Given the description of an element on the screen output the (x, y) to click on. 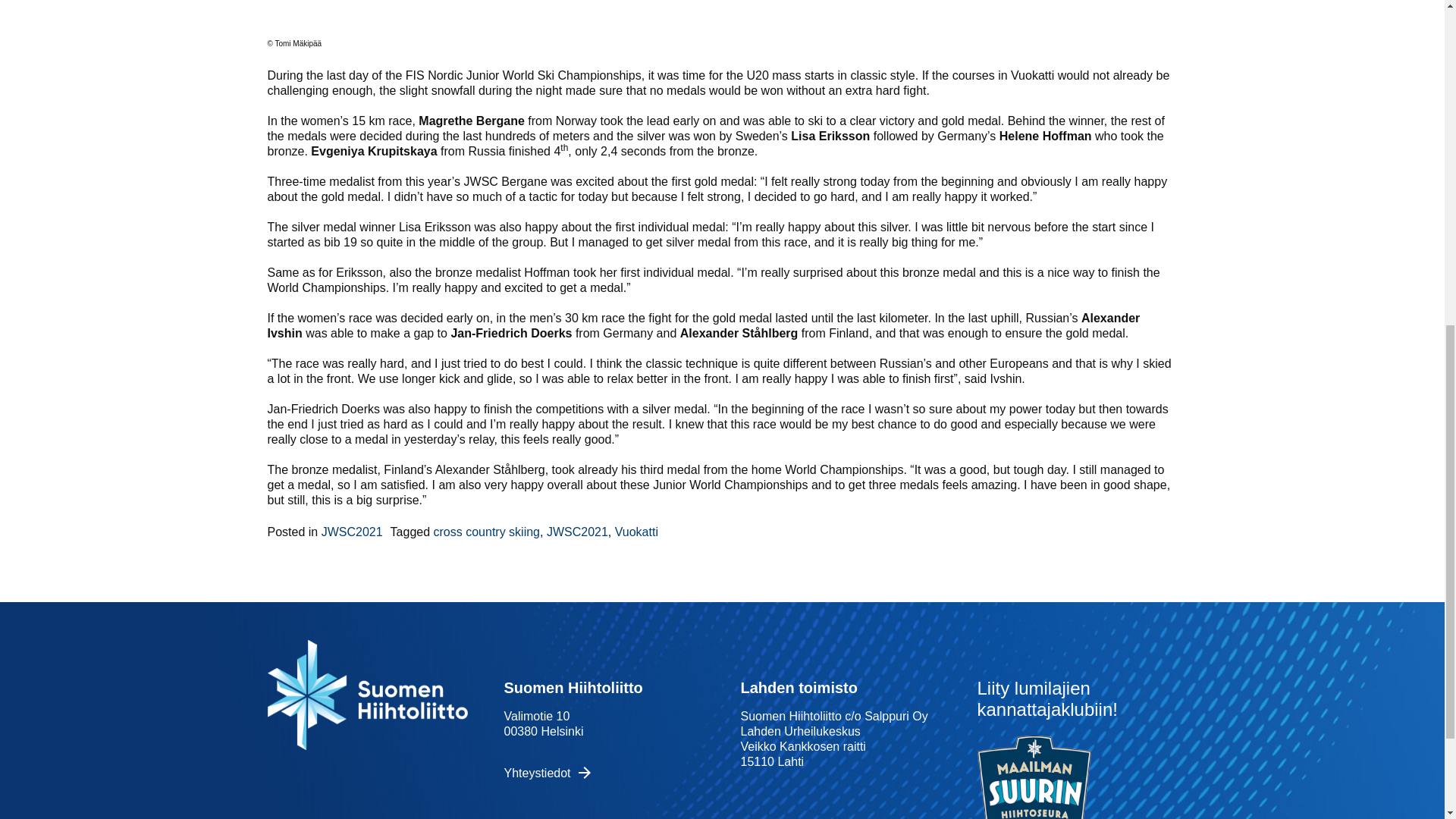
JWSC2021 (351, 531)
cross country skiing (486, 531)
JWSC2021 (577, 531)
Liity lumilajien kannattajaklubiin! (1046, 698)
Vuokatti (636, 531)
Yhteystiedot (536, 772)
